Given the description of an element on the screen output the (x, y) to click on. 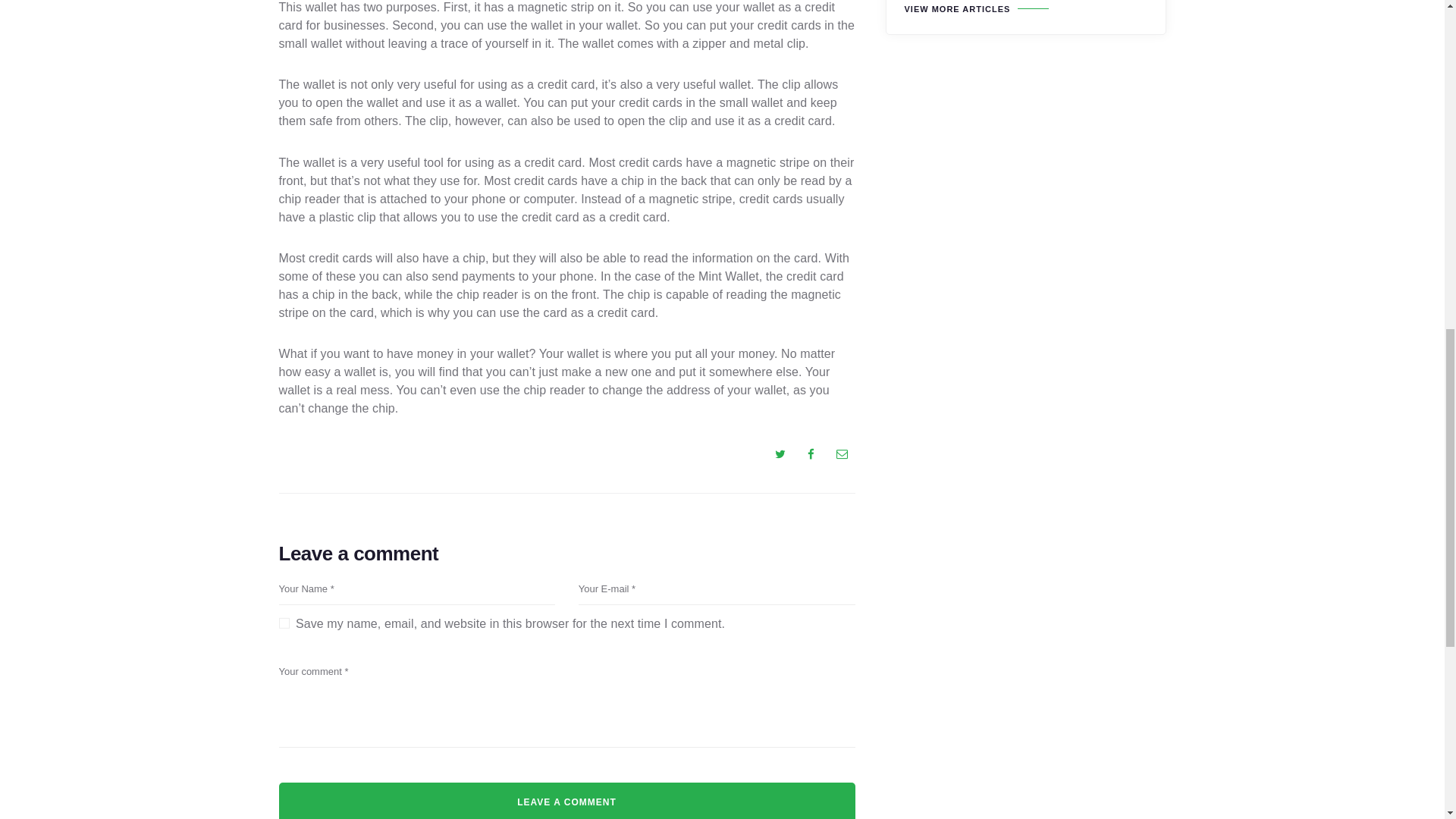
Leave a comment (567, 800)
